Given the description of an element on the screen output the (x, y) to click on. 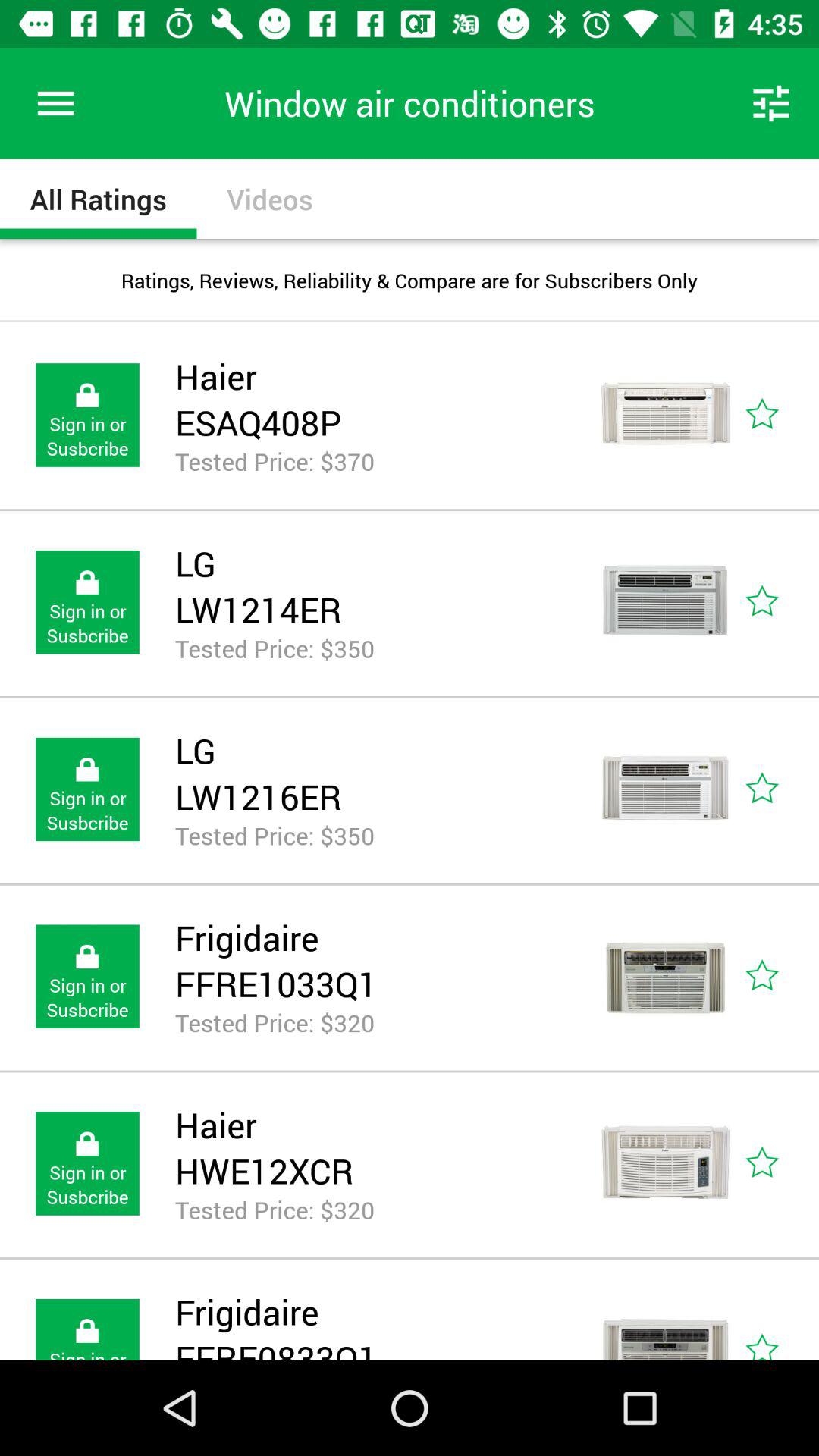
add to favorites (779, 415)
